Given the description of an element on the screen output the (x, y) to click on. 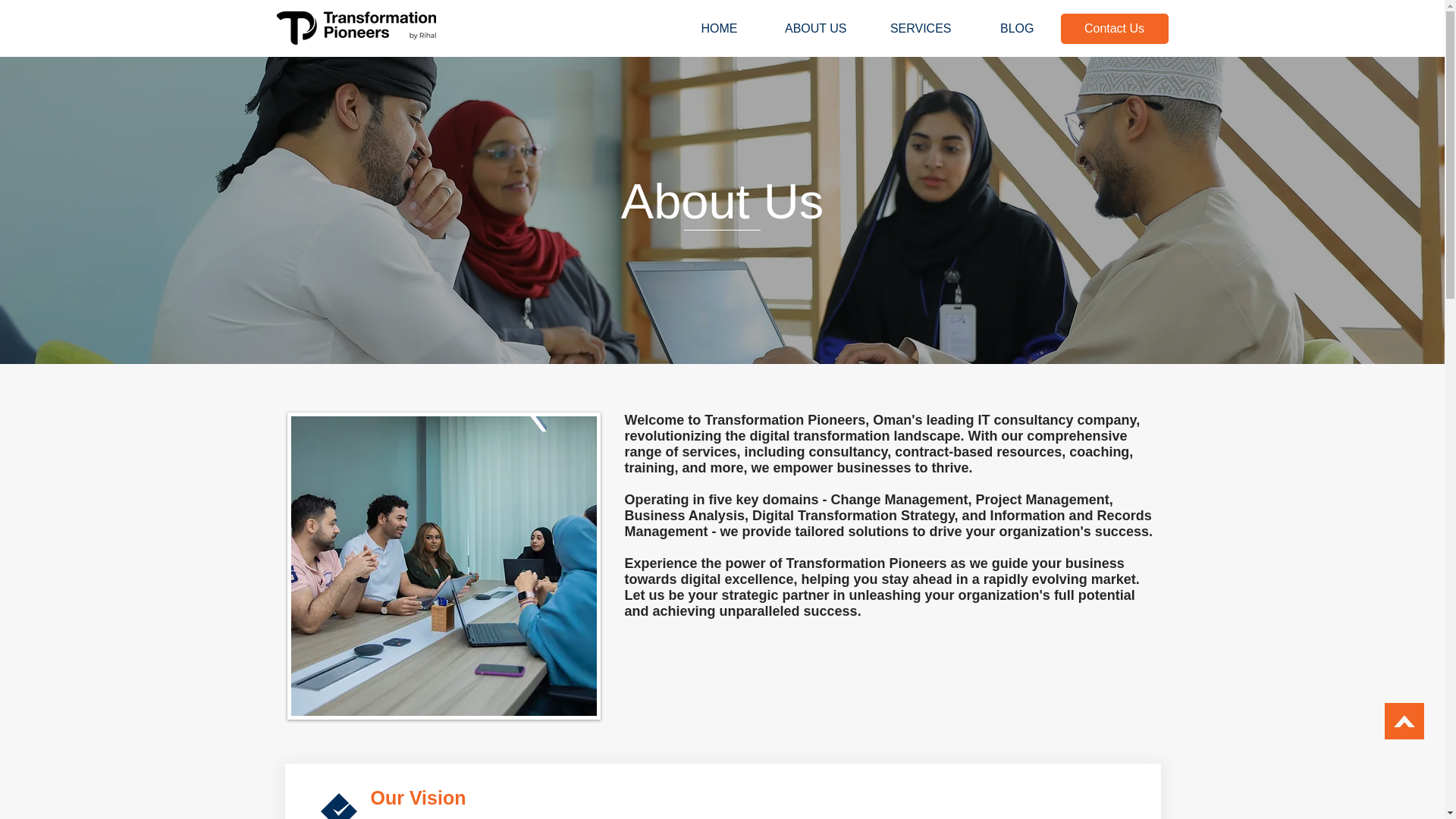
Contact Us (1113, 28)
ABOUT US (804, 28)
SERVICES (910, 28)
BLOG (1003, 28)
HOME (705, 28)
